Given the description of an element on the screen output the (x, y) to click on. 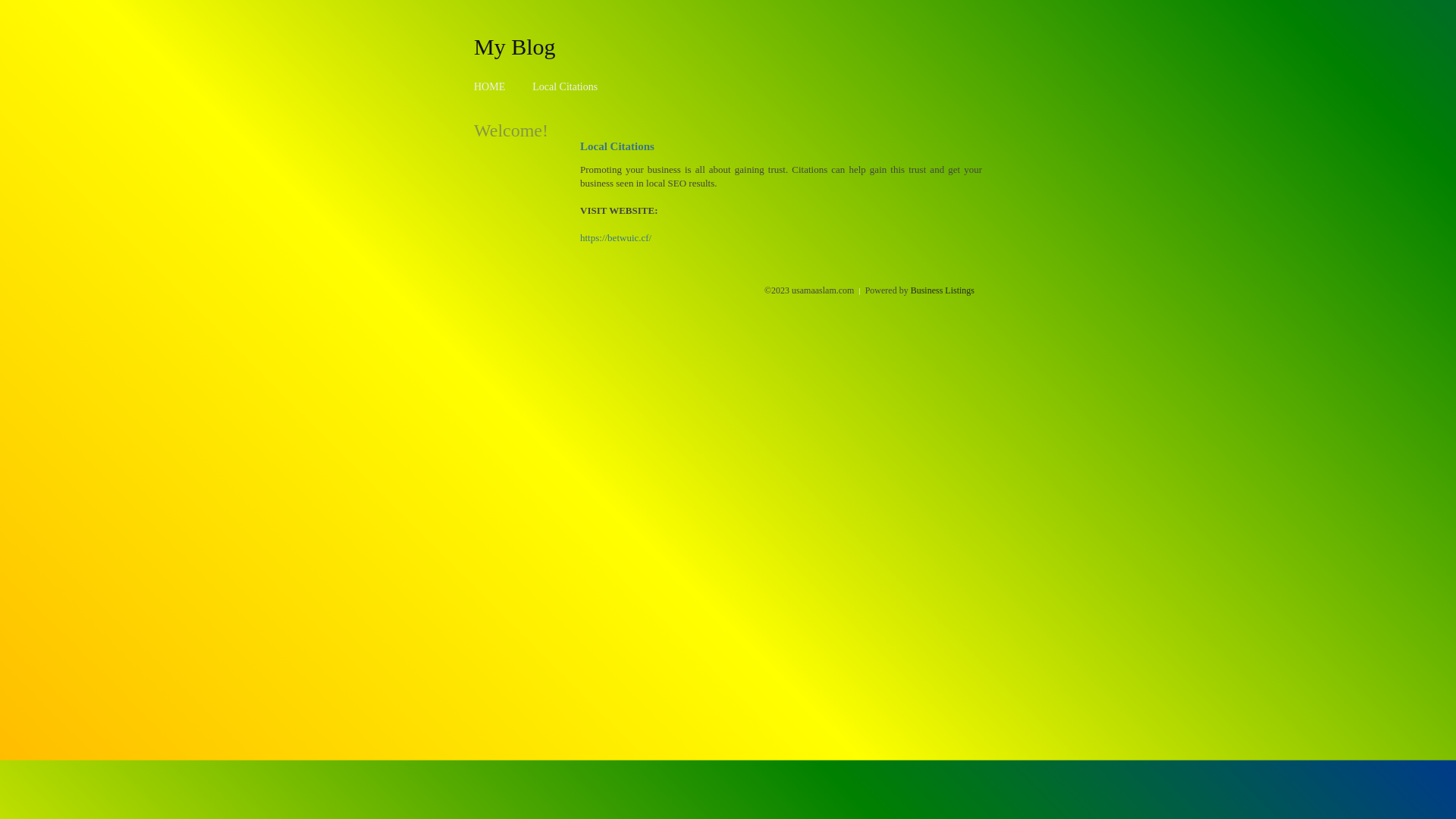
My Blog Element type: text (514, 46)
Local Citations Element type: text (564, 86)
Business Listings Element type: text (942, 290)
HOME Element type: text (489, 86)
https://betwuic.cf/ Element type: text (615, 237)
